Given the description of an element on the screen output the (x, y) to click on. 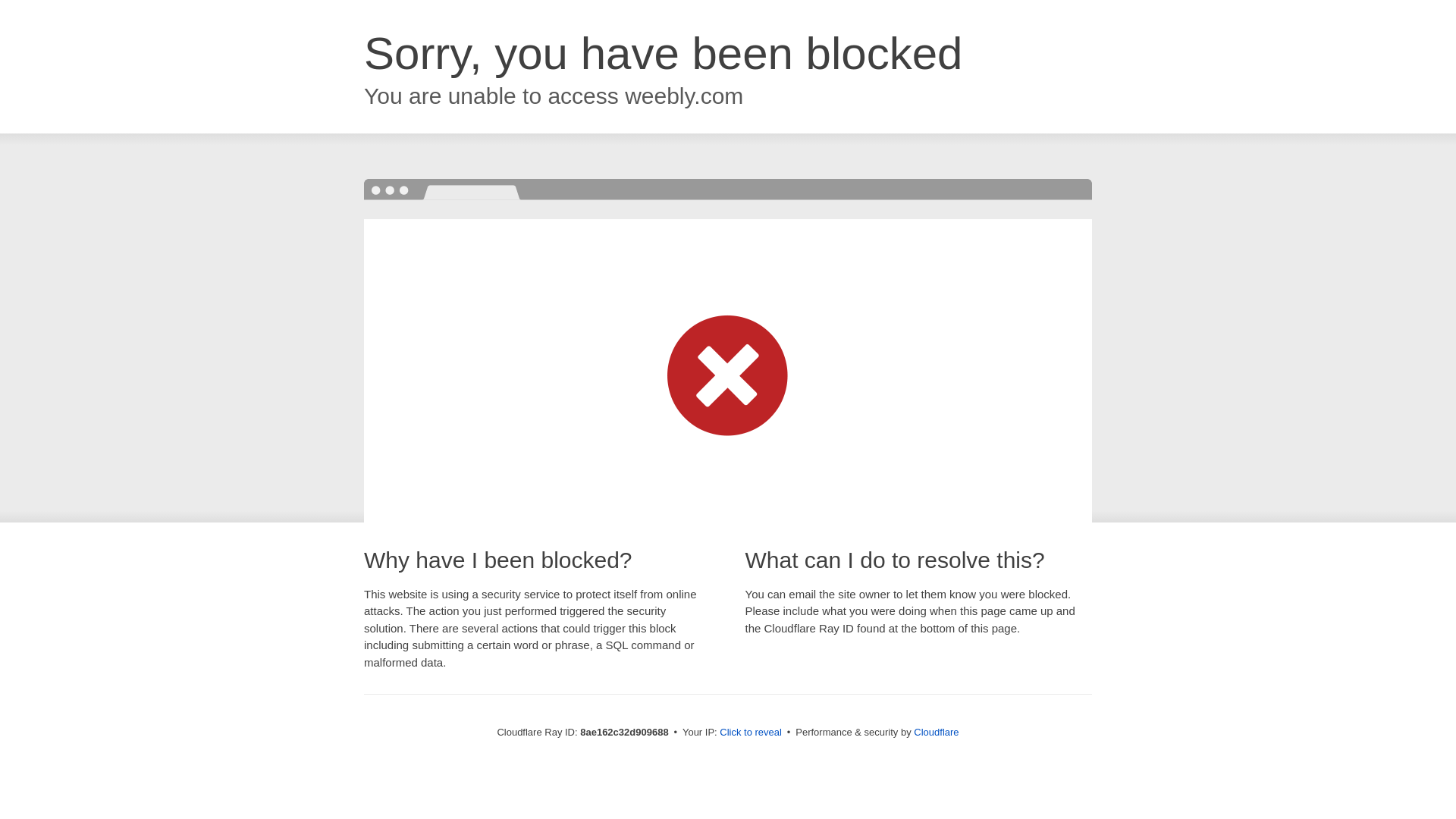
Cloudflare (936, 731)
Click to reveal (750, 732)
